Given the description of an element on the screen output the (x, y) to click on. 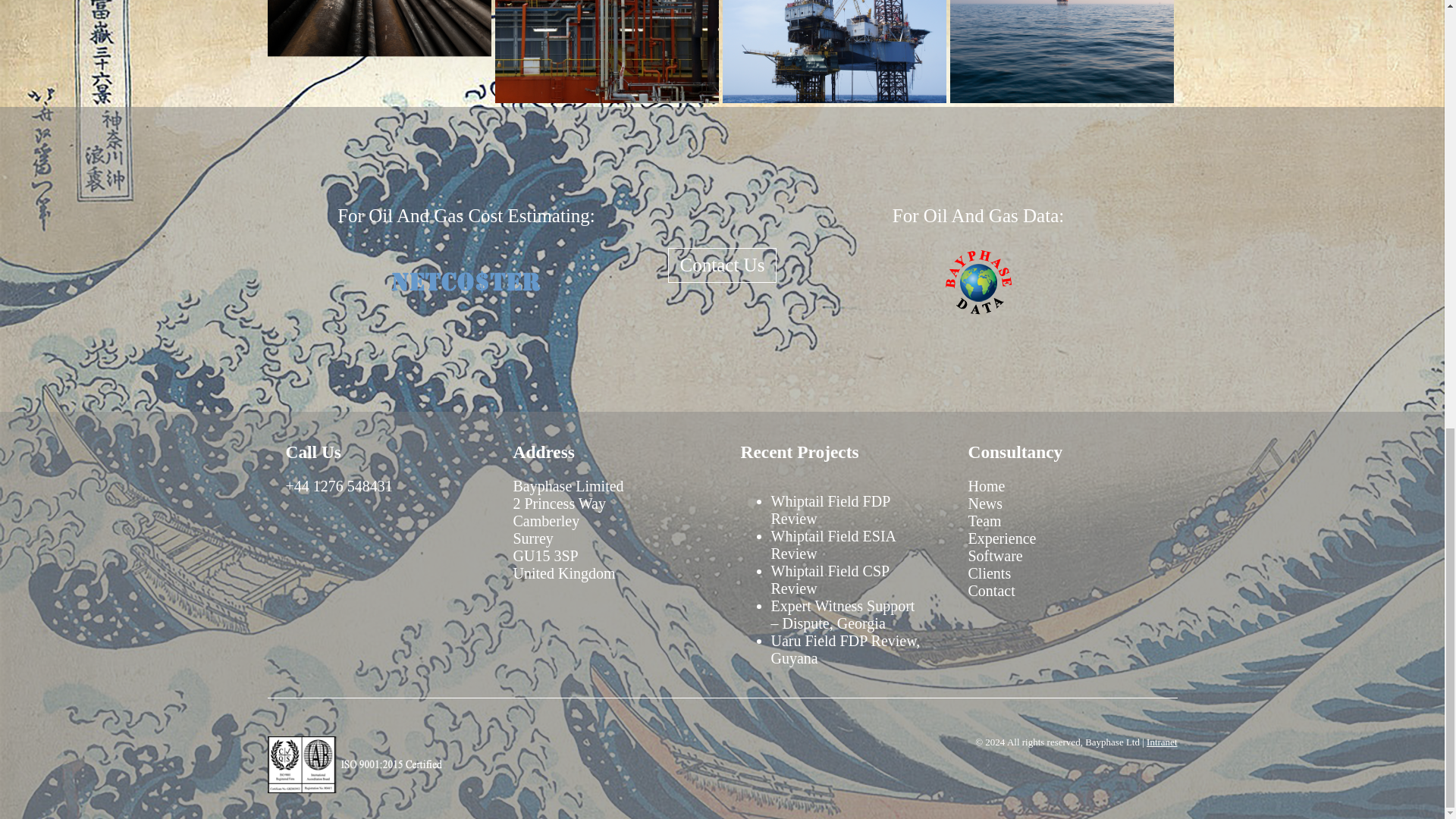
Uaru Field FDP Review, Guyana (845, 649)
Whiptail Field CSP Review (829, 579)
Team (984, 520)
News (985, 503)
Home (986, 485)
Intranet (1161, 741)
Whiptail Field FDP Review (829, 510)
Whiptail Field ESIA Review (832, 544)
Contact (991, 590)
Software (995, 555)
